Given the description of an element on the screen output the (x, y) to click on. 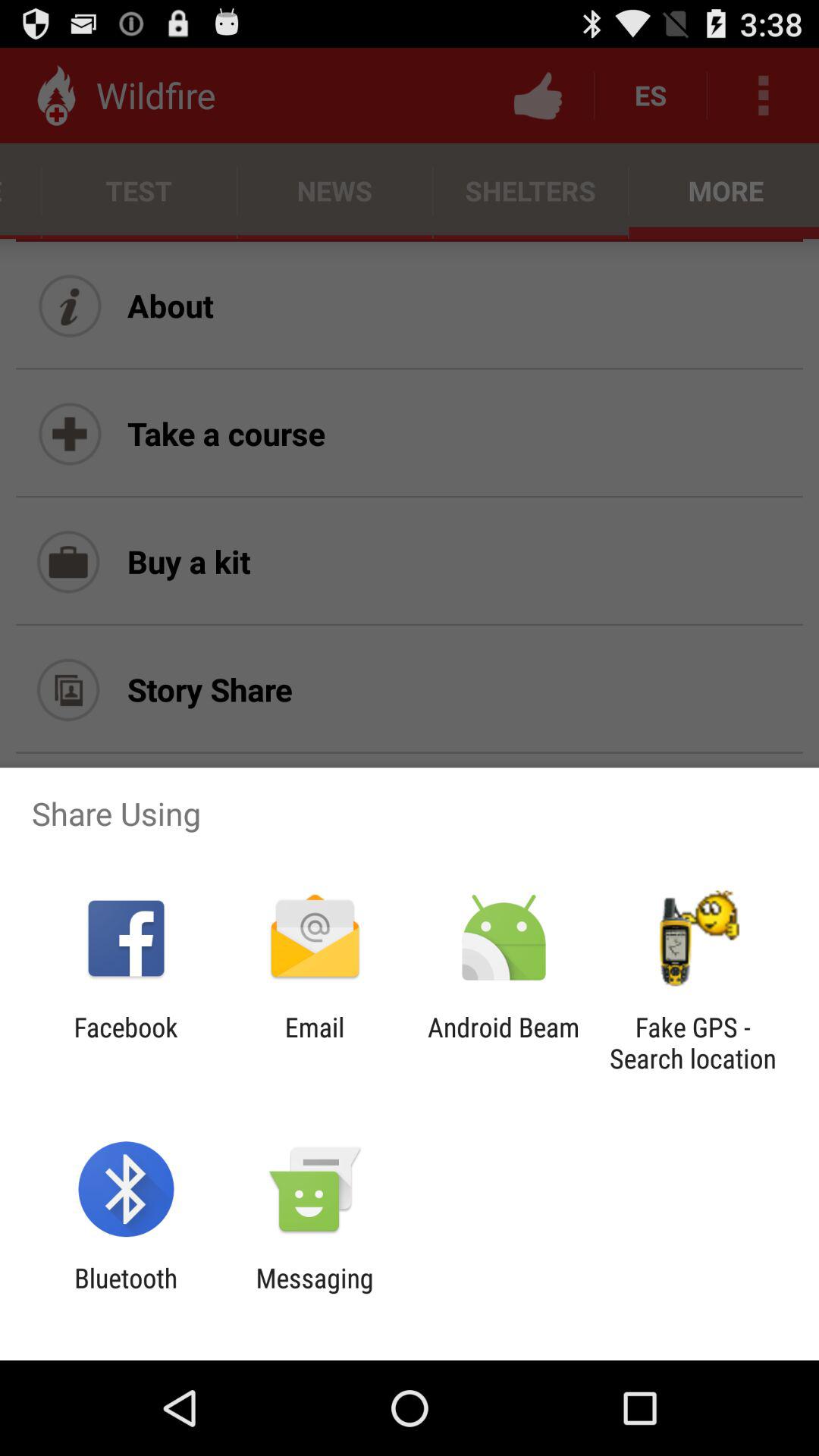
tap the app next to the messaging item (125, 1293)
